Given the description of an element on the screen output the (x, y) to click on. 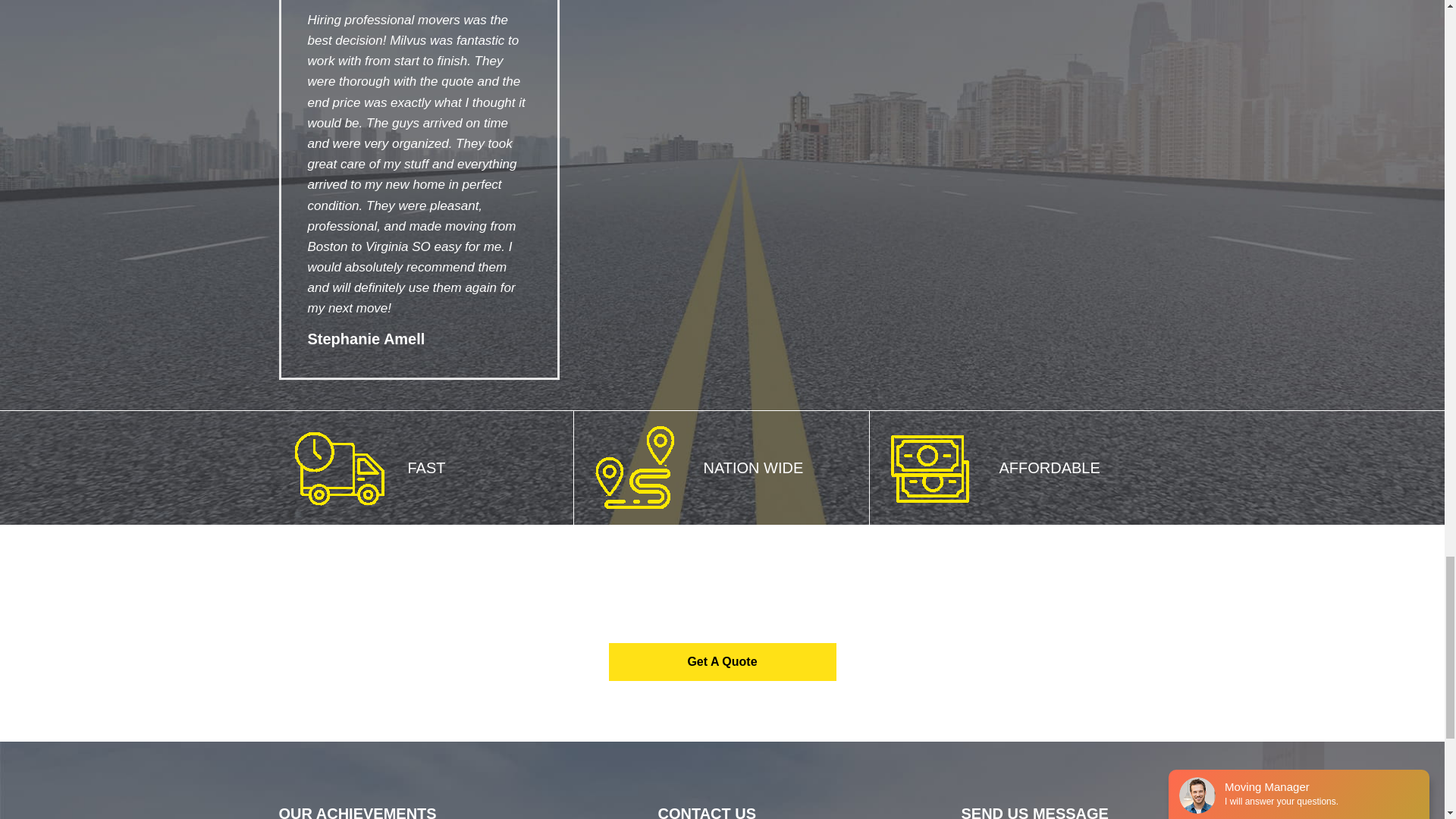
Get A Quote (721, 661)
